Given the description of an element on the screen output the (x, y) to click on. 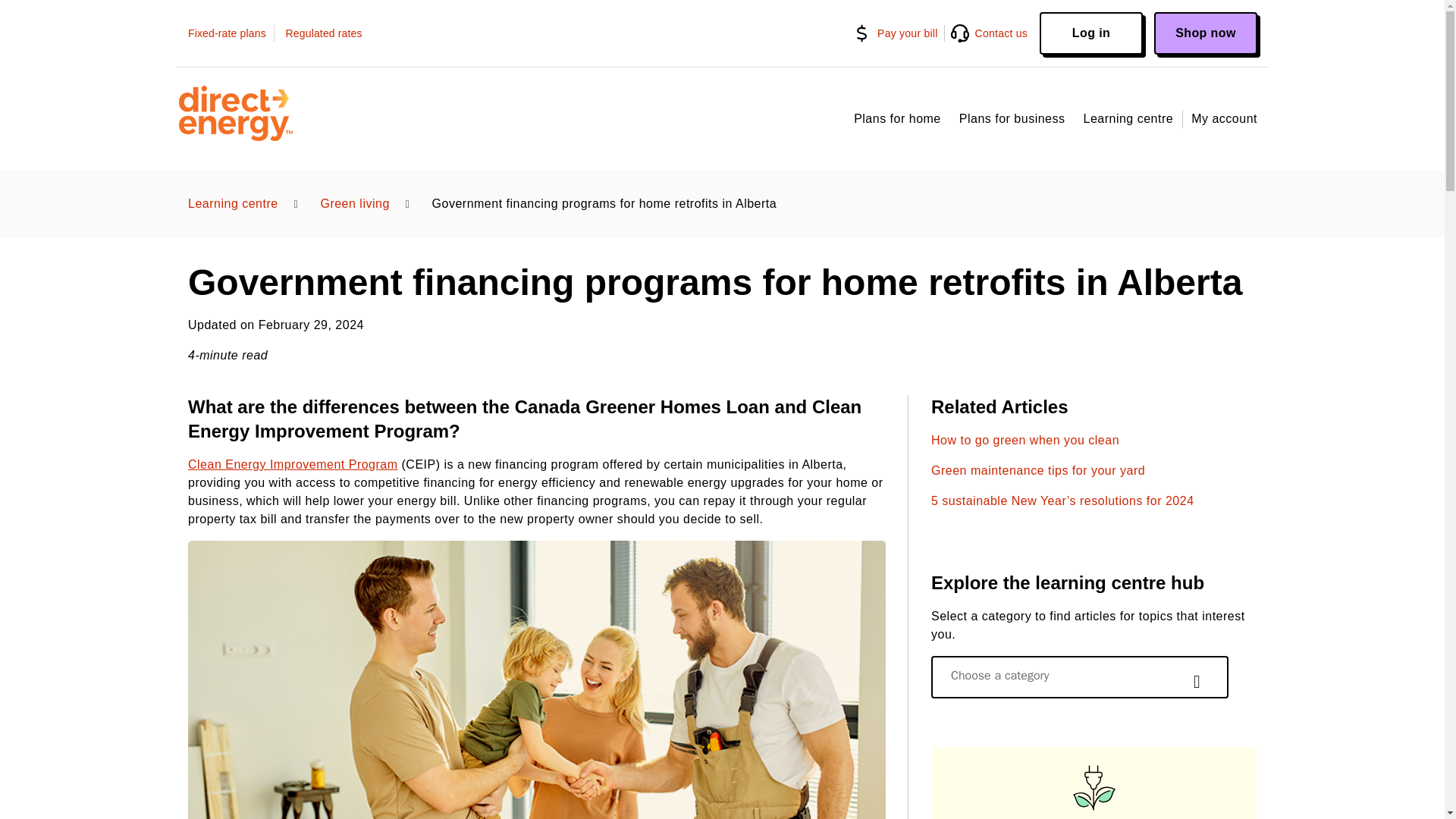
Pay your bill (898, 33)
How to go green when you clean (1025, 440)
Plans for home (896, 118)
Contact us (991, 33)
Green maintenance tips for your yard (1037, 470)
Fixed-rate plans (231, 33)
Log in (1090, 33)
Regulated rates (323, 33)
Shop now (1205, 33)
My account (1224, 118)
